Given the description of an element on the screen output the (x, y) to click on. 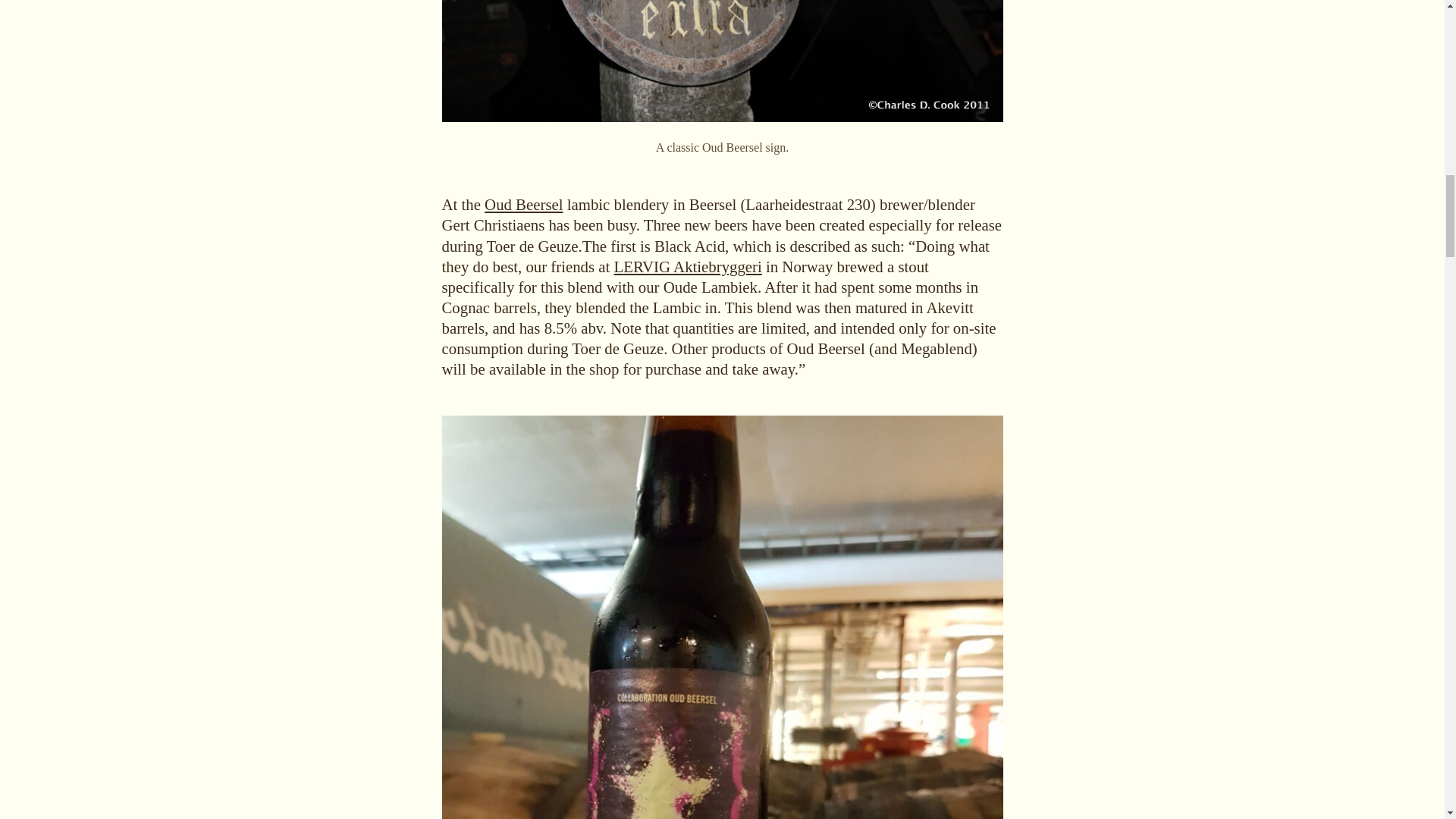
Oud Beersel (523, 203)
LERVIG Aktiebryggeri (686, 266)
